Given the description of an element on the screen output the (x, y) to click on. 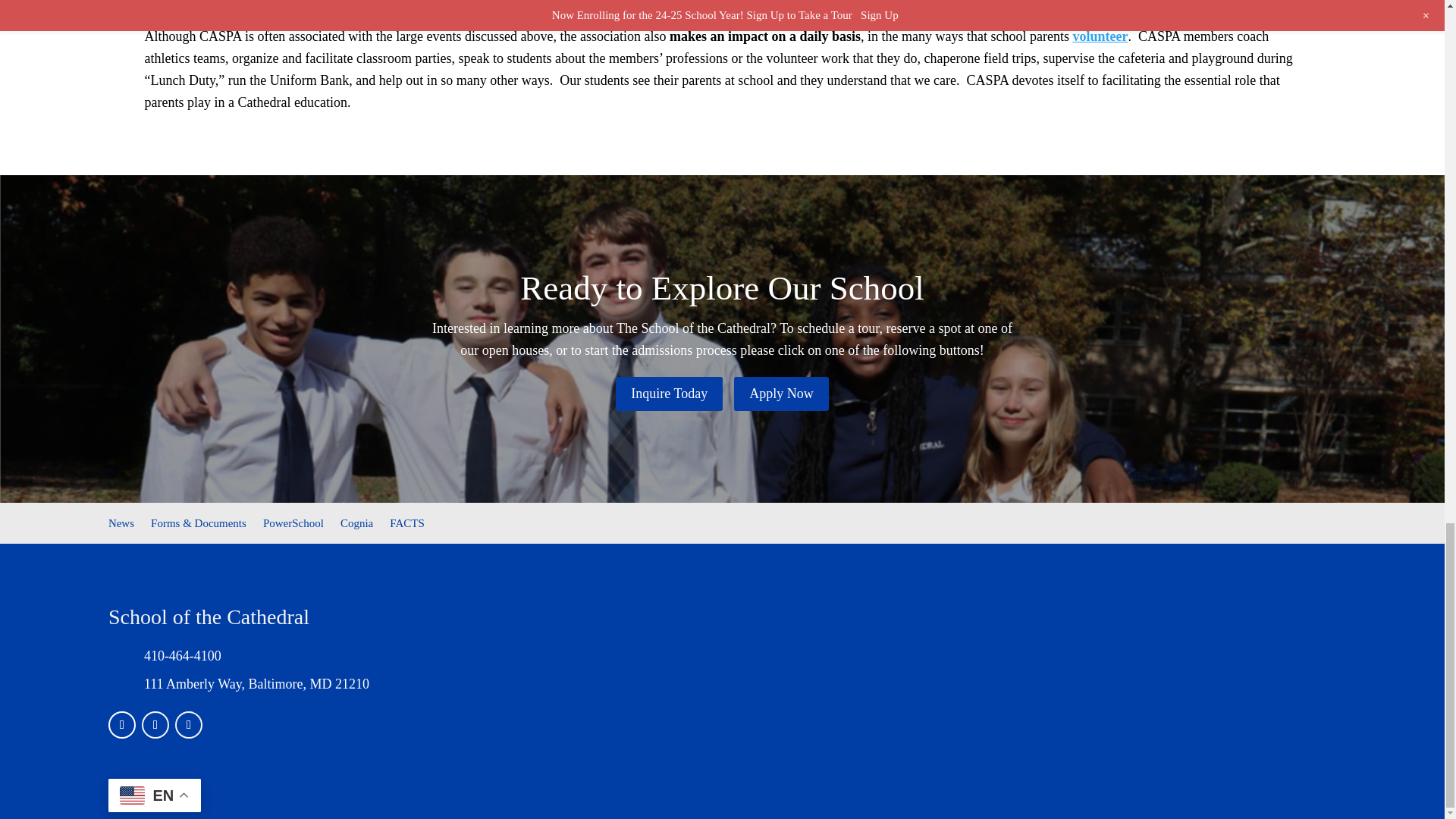
Follow on Facebook (121, 724)
Follow on Instagram (154, 724)
Follow on X (188, 724)
